Given the description of an element on the screen output the (x, y) to click on. 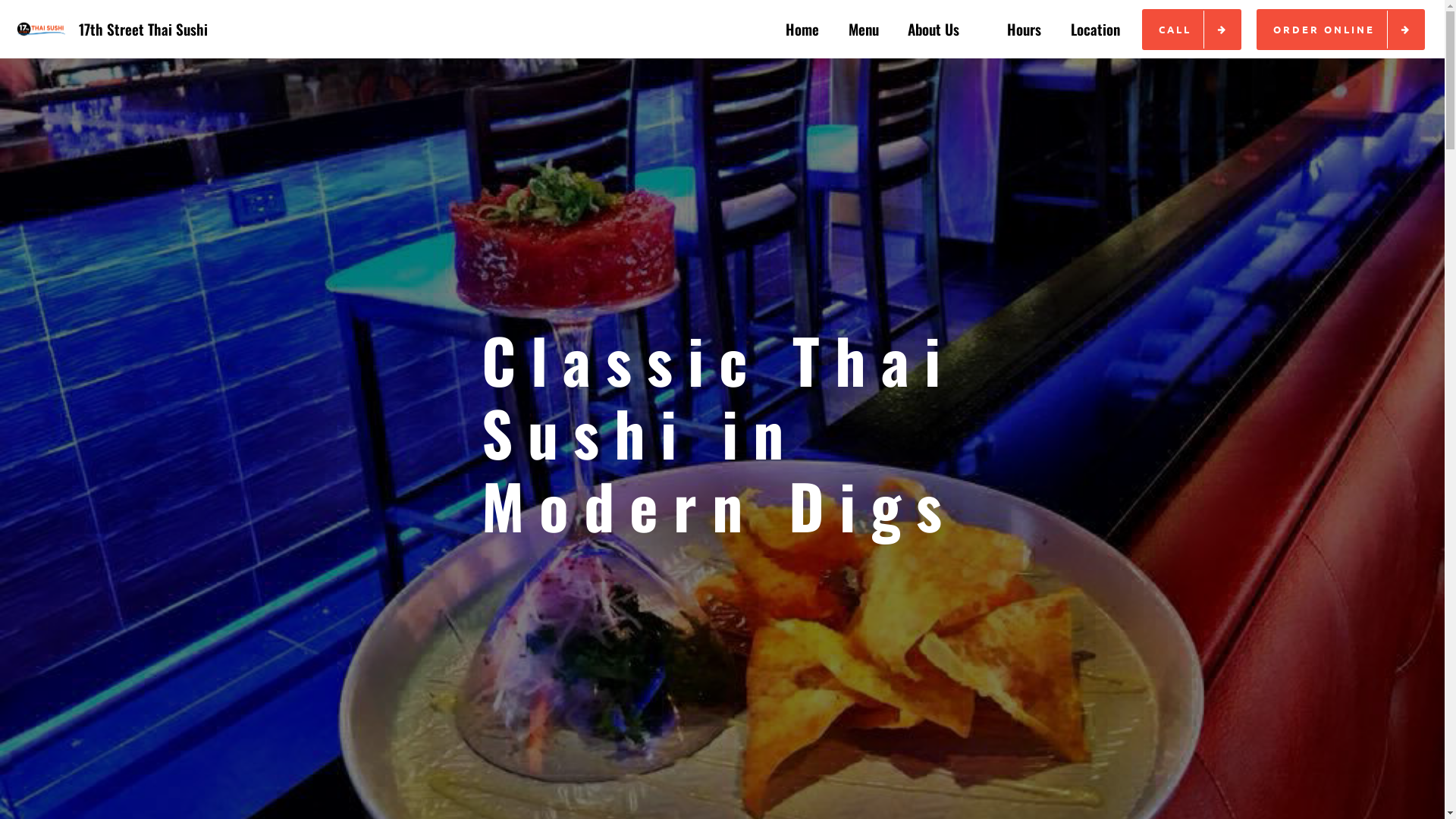
Hours Element type: text (1024, 29)
Menu Element type: text (863, 29)
ORDER ONLINE Element type: text (1340, 29)
CALL Element type: text (1191, 29)
Location Element type: text (1095, 29)
About Us      Element type: text (942, 29)
17th Street Thai Sushi Element type: text (142, 29)
Home Element type: text (802, 29)
